Given the description of an element on the screen output the (x, y) to click on. 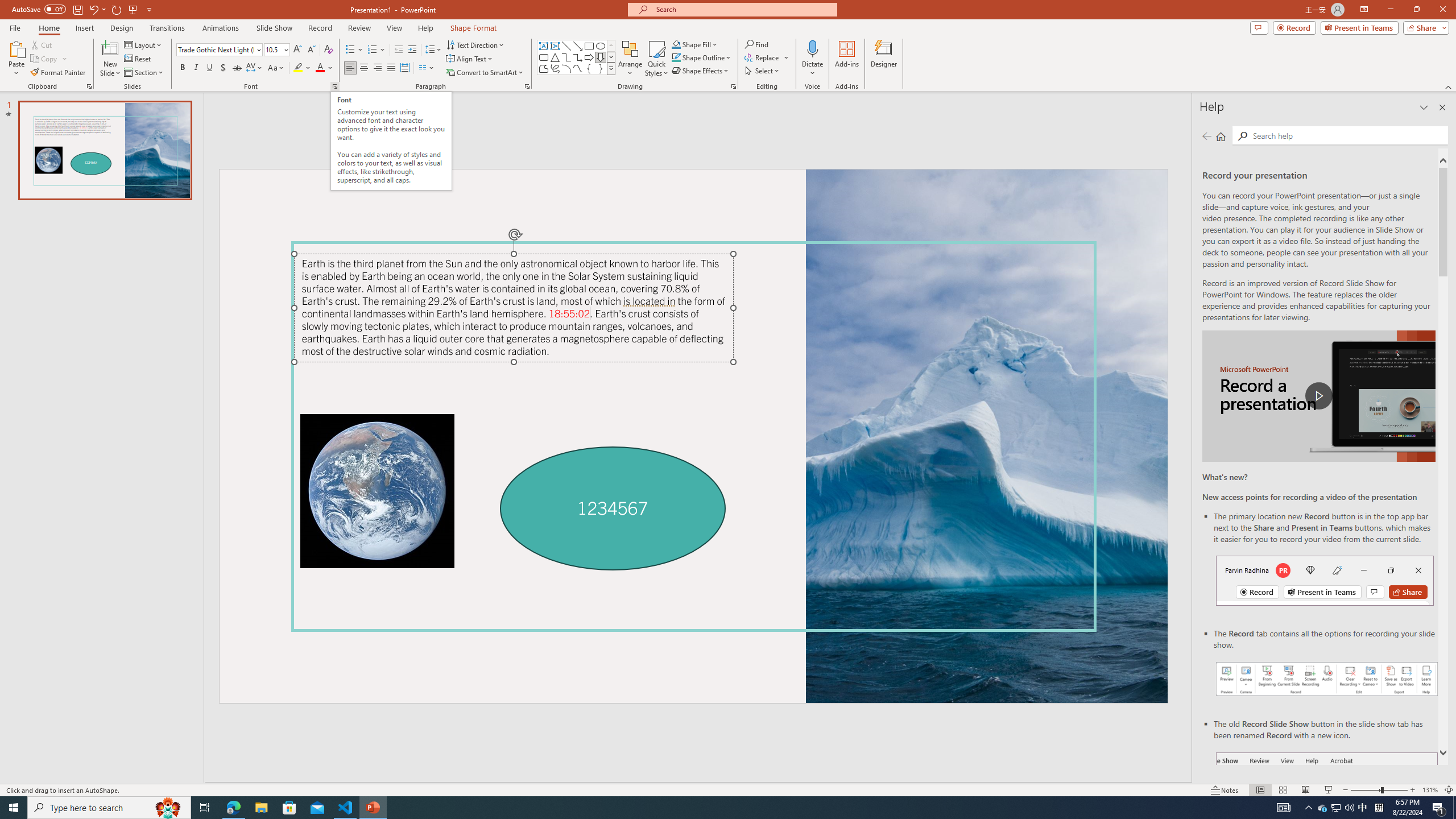
Dictate (812, 48)
Replace... (762, 56)
Cut (42, 44)
Font Color Red (320, 67)
Connector: Elbow Arrow (577, 57)
Strikethrough (237, 67)
Arrange (630, 58)
Arrow: Down (600, 57)
Text Box (543, 45)
Convert to SmartArt (485, 72)
Columns (426, 67)
Find... (756, 44)
Font (219, 49)
Office Clipboard... (88, 85)
Left Brace (589, 68)
